Given the description of an element on the screen output the (x, y) to click on. 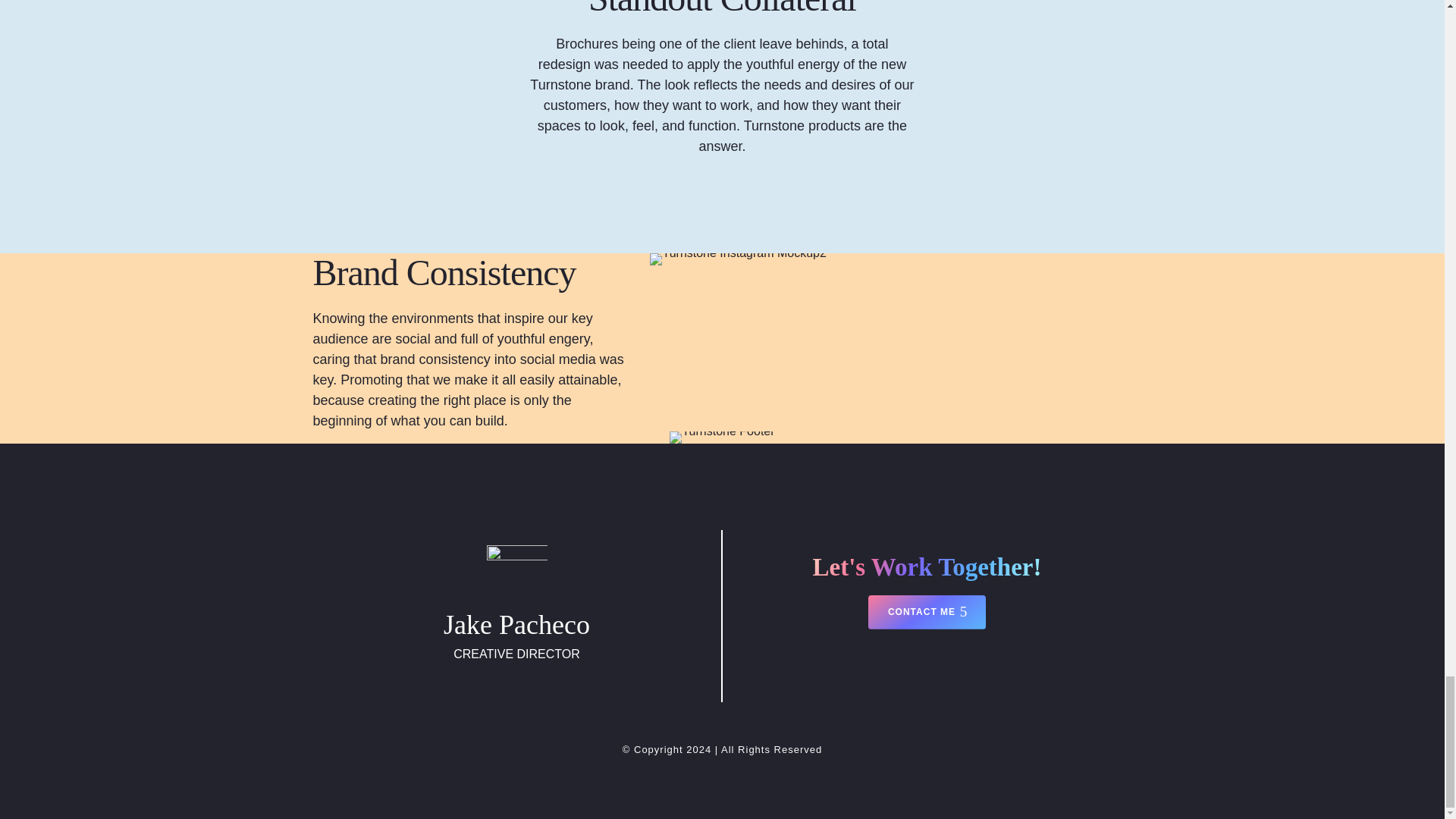
CONTACT ME (926, 611)
